Given the description of an element on the screen output the (x, y) to click on. 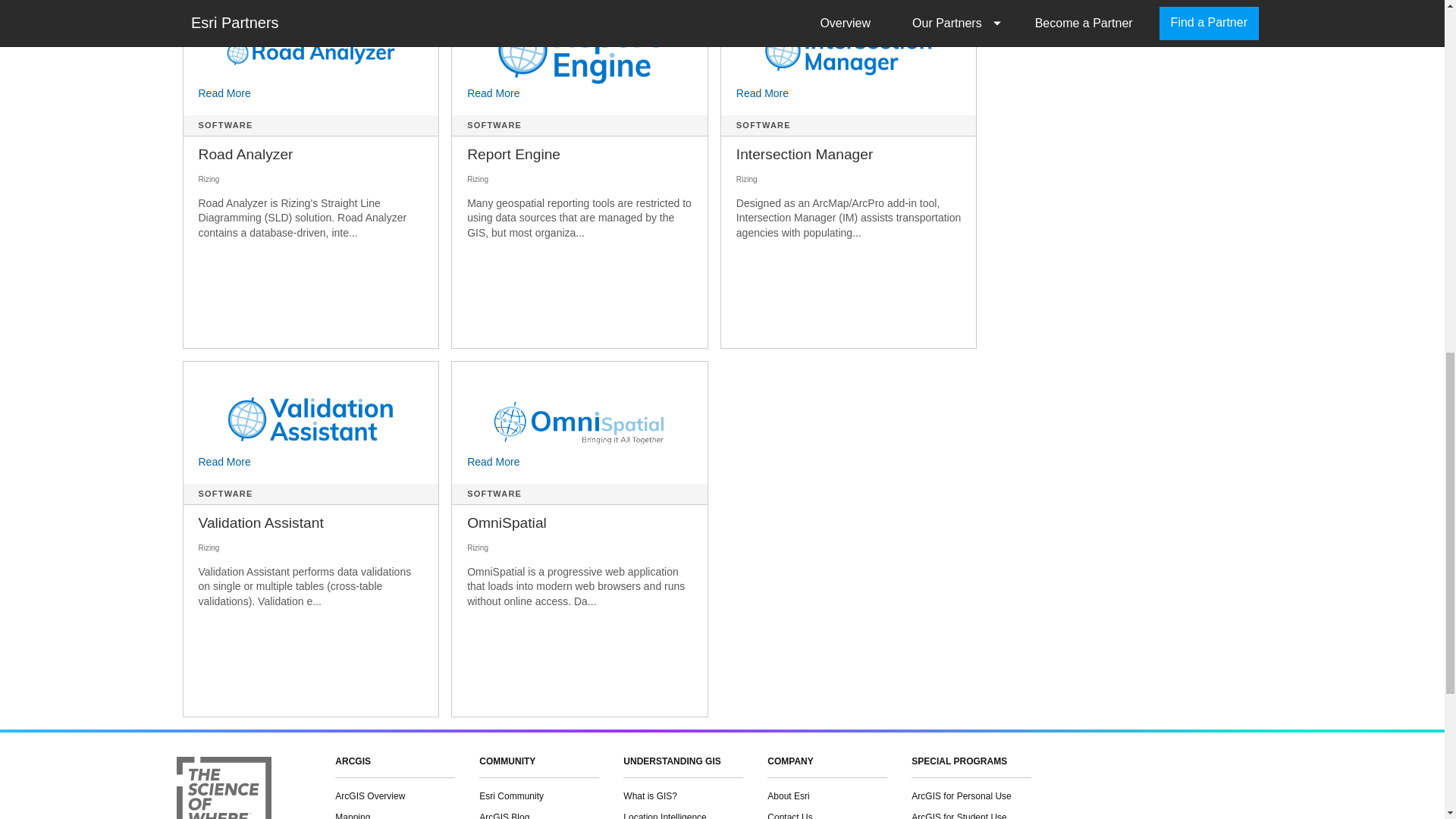
More about Esri and the Science of Where (223, 787)
